Given the description of an element on the screen output the (x, y) to click on. 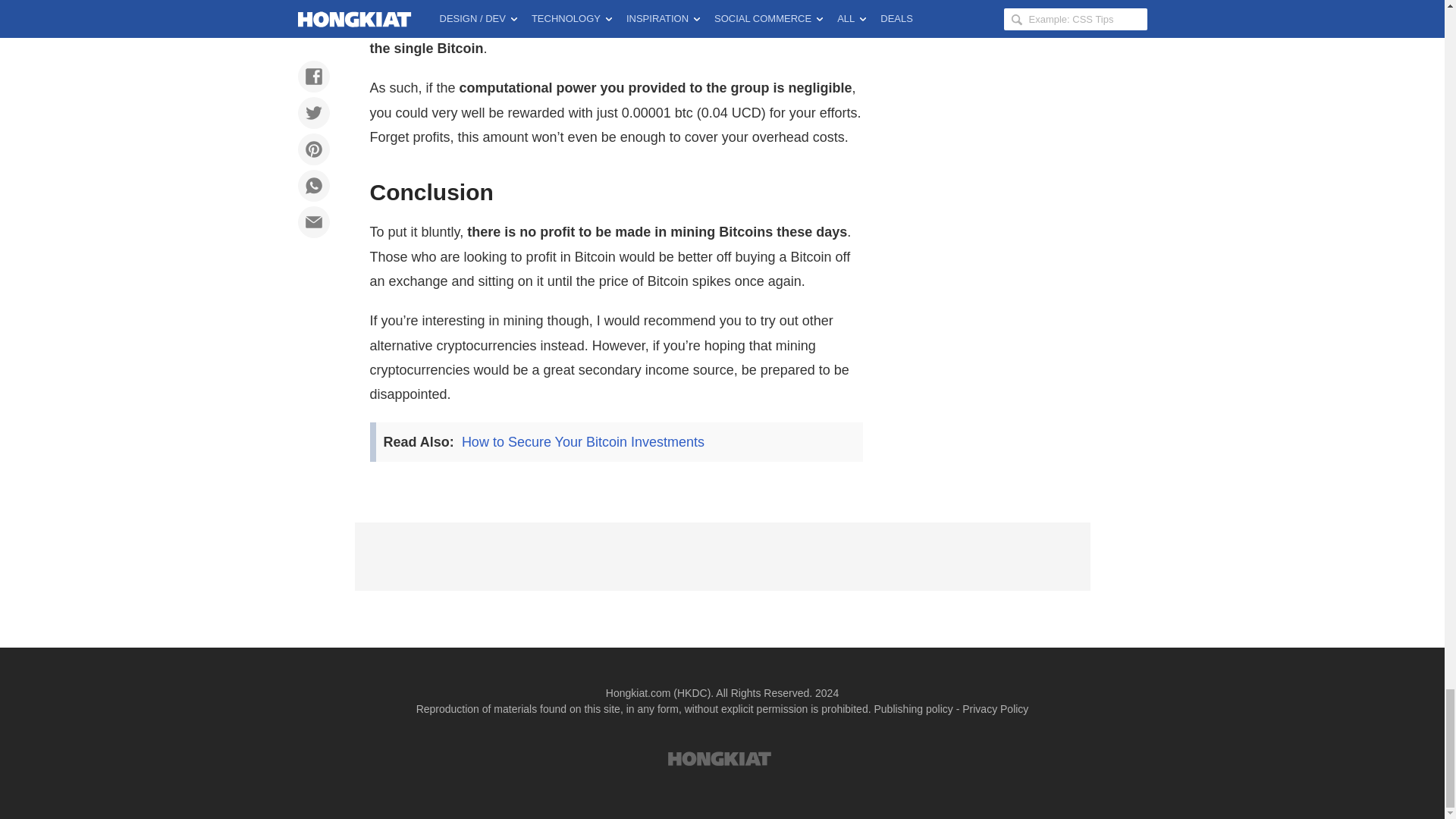
How to Secure Your Bitcoin Investments (582, 441)
